Given the description of an element on the screen output the (x, y) to click on. 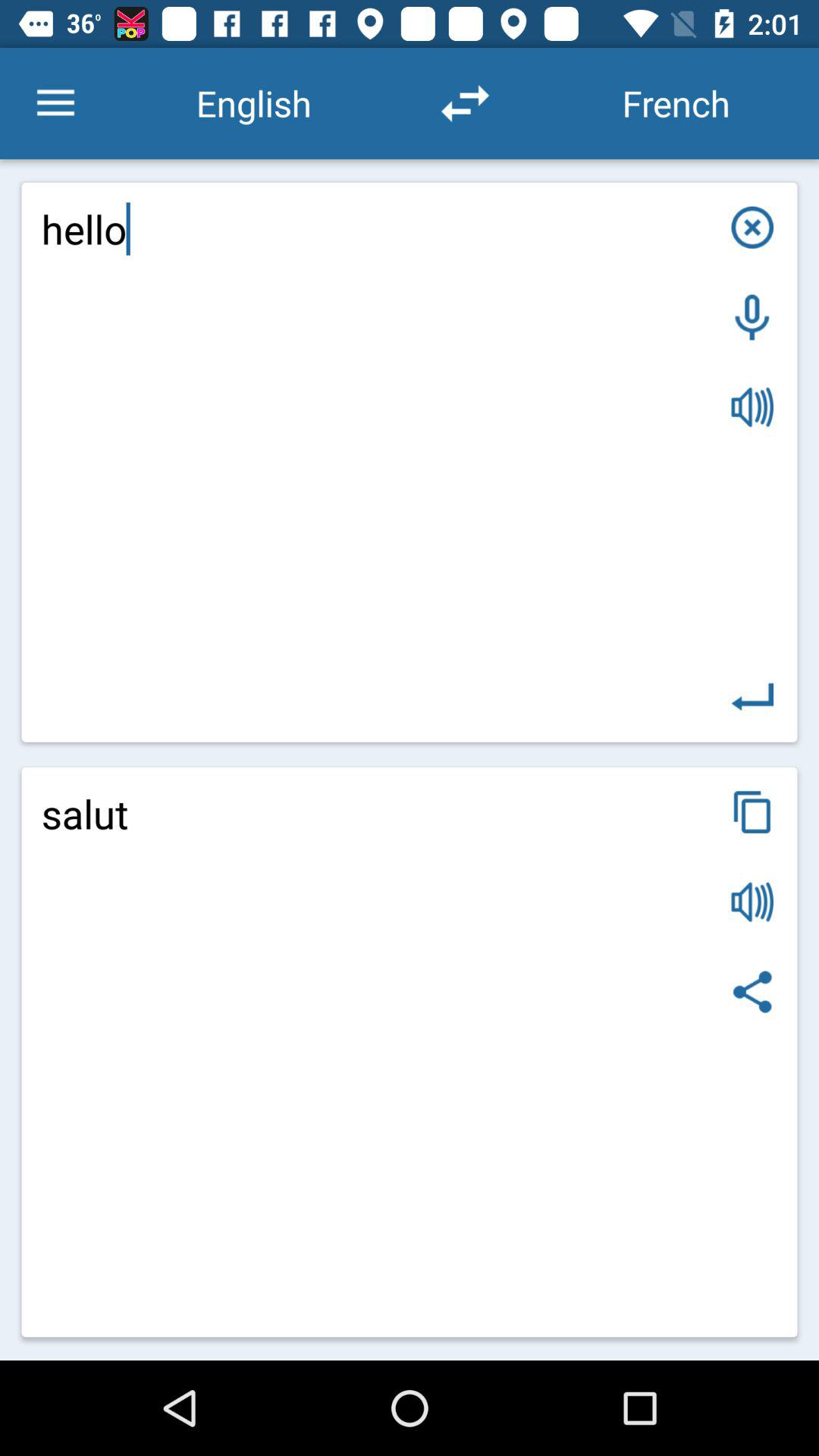
turn on the icon above hello item (55, 103)
